Given the description of an element on the screen output the (x, y) to click on. 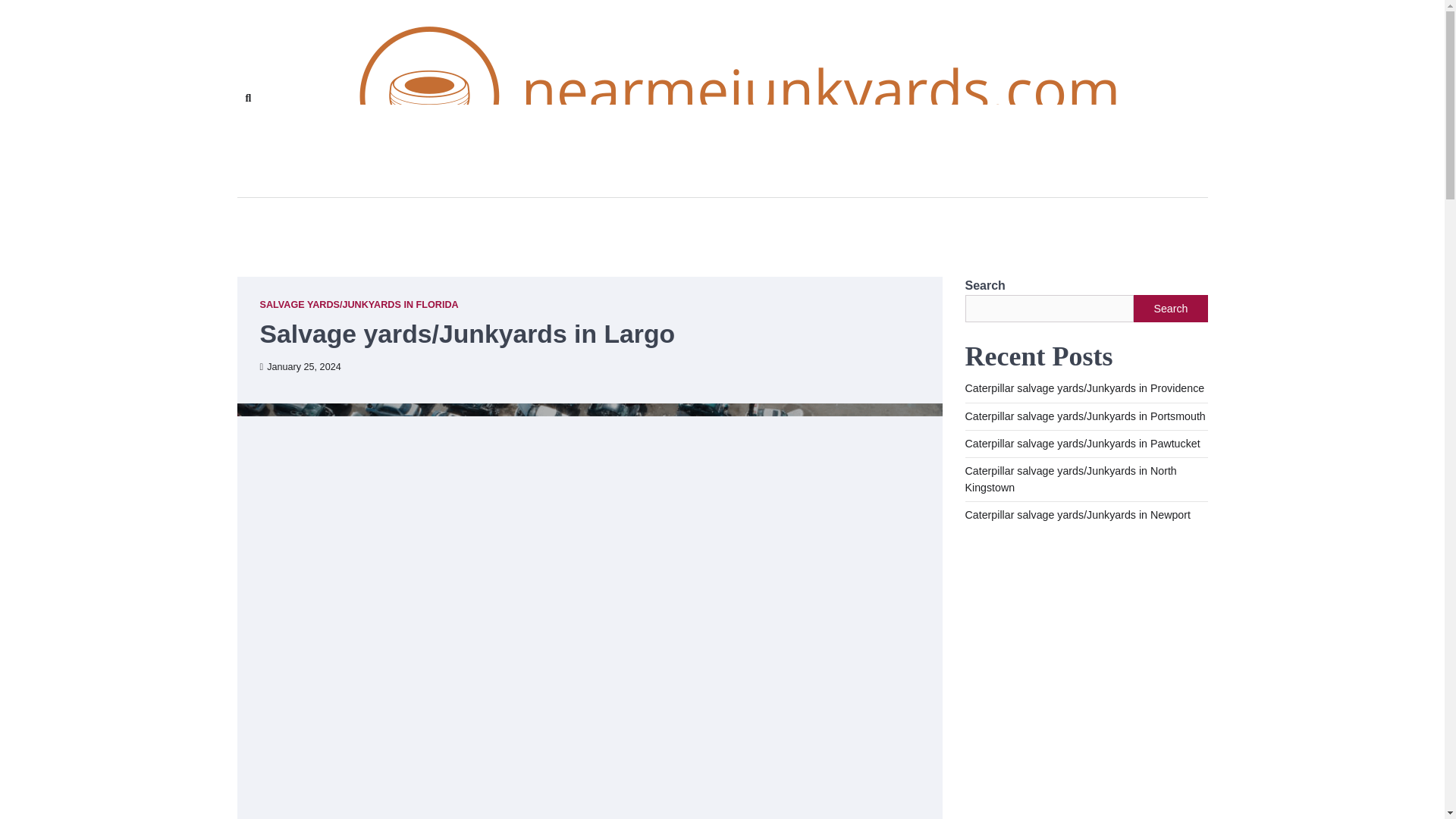
Search (247, 97)
January 25, 2024 (299, 366)
Search (1170, 308)
Search (443, 134)
